Given the description of an element on the screen output the (x, y) to click on. 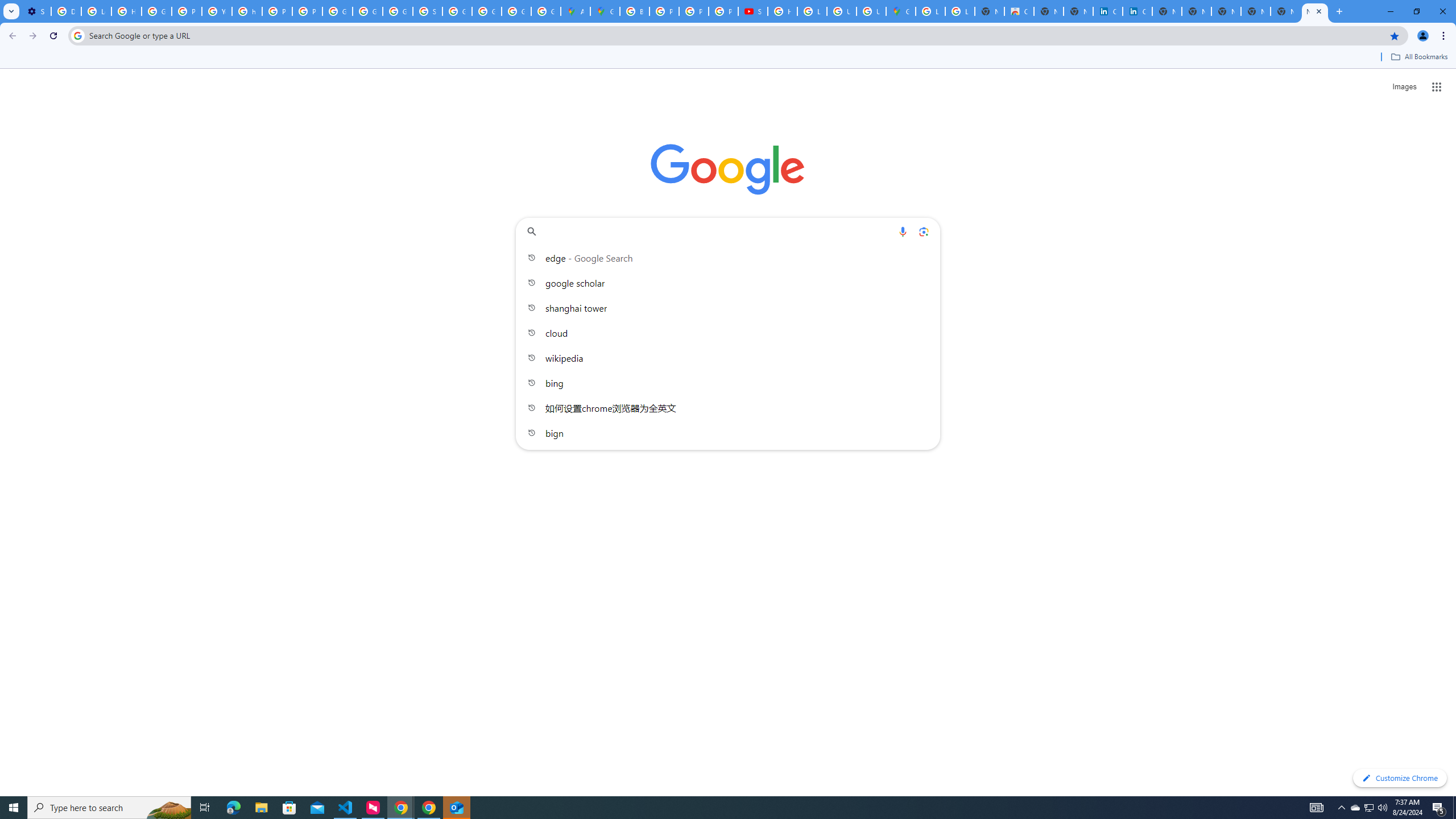
Google Maps (604, 11)
Cookie Policy | LinkedIn (1137, 11)
Privacy Help Center - Policies Help (664, 11)
How Chrome protects your passwords - Google Chrome Help (782, 11)
